Given the description of an element on the screen output the (x, y) to click on. 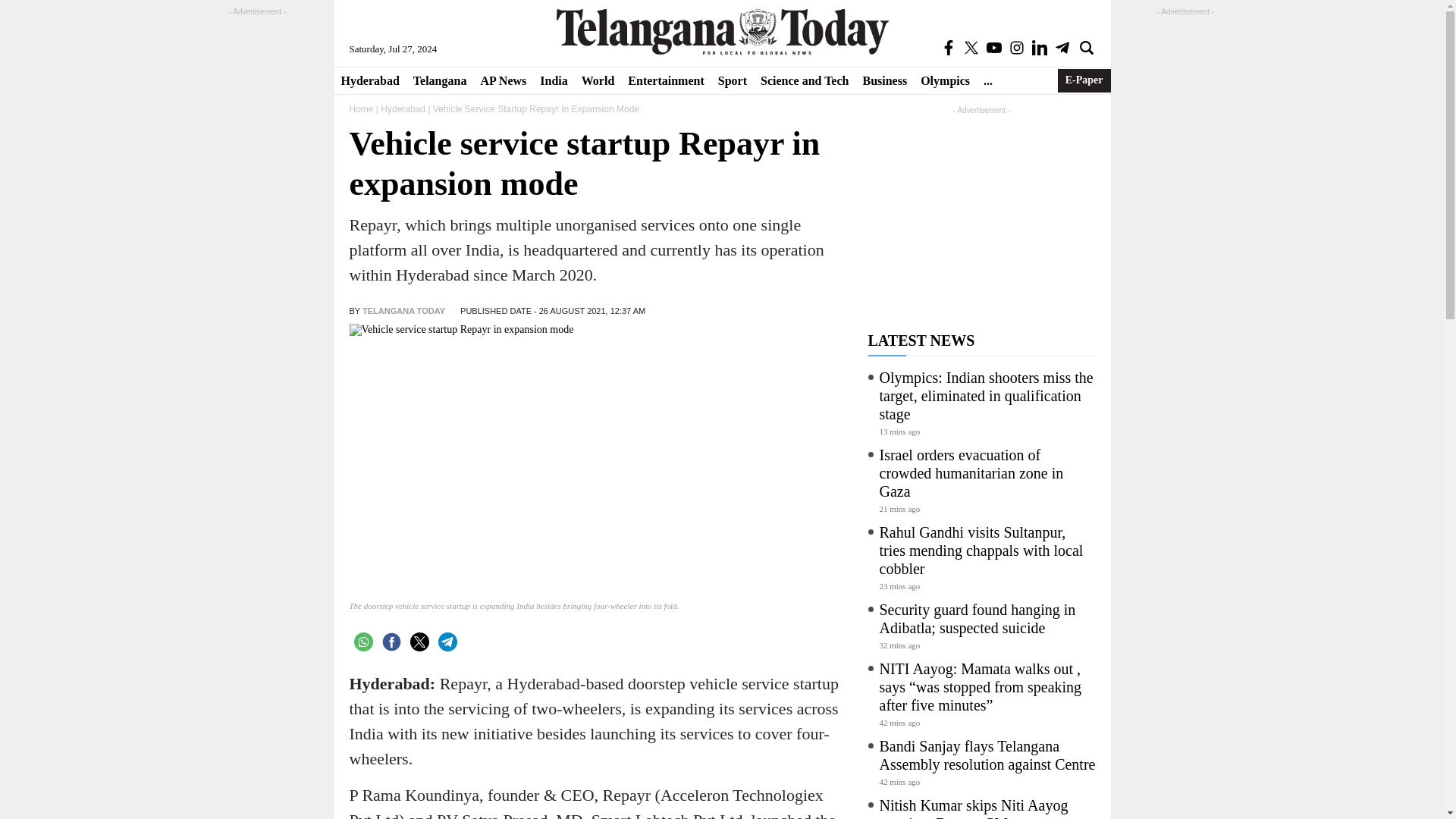
AP News (502, 80)
World (598, 80)
... (987, 80)
Business (885, 80)
Home (360, 109)
Business (885, 80)
Entertainment (665, 80)
Telangana (440, 80)
AP News (502, 80)
Sport (732, 80)
Sport (732, 80)
India (552, 80)
Telangana (440, 80)
Hyderabad (402, 109)
Olympics (945, 80)
